Given the description of an element on the screen output the (x, y) to click on. 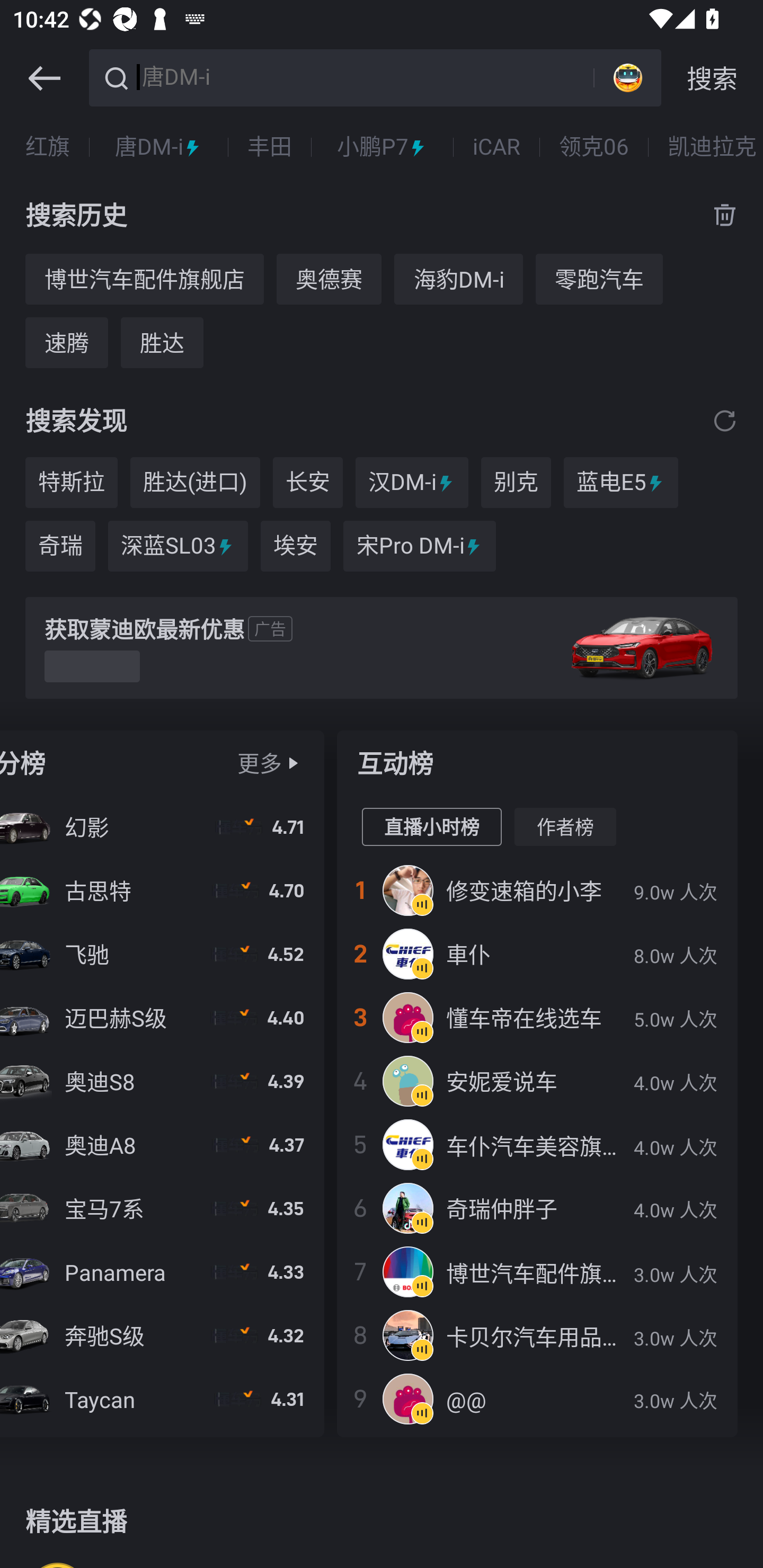
 唐DM-i (364, 76)
 (44, 78)
搜索 (711, 78)
红旗 (47, 147)
唐DM-i (158, 147)
丰田 (269, 147)
小鹏P7 (382, 147)
iCAR (496, 147)
领克06 (593, 147)
凯迪拉克 (711, 147)
博世汽车配件旗舰店 (144, 278)
奥德赛 (329, 278)
海豹DM-i (458, 278)
零跑汽车 (598, 278)
速腾 (66, 342)
胜达 (161, 342)
 (724, 419)
特斯拉 (71, 482)
胜达(进口) (195, 482)
长安 (307, 482)
汉DM-i (411, 482)
别克 (515, 482)
蓝电E5 (620, 482)
奇瑞 (60, 546)
深蓝SL03 (177, 546)
埃安 (295, 546)
宋Pro DM-i (419, 546)
获取蒙迪欧最新优惠 广告 立享优惠 (381, 648)
更多 (259, 762)
 (292, 763)
幻影 4.71 (161, 826)
直播小时榜 (431, 826)
作者榜 (565, 826)
古思特 4.70 (161, 890)
修变速箱的小李 9.0w 人次 (537, 890)
飞驰 4.52 (161, 953)
車仆 8.0w 人次 (537, 953)
迈巴赫S级 4.40 (161, 1017)
懂车帝在线选车 5.0w 人次 (537, 1017)
奥迪S8 4.39 (161, 1080)
安妮爱说车 4.0w 人次 (537, 1080)
奥迪A8 4.37 (161, 1144)
车仆汽车美容旗舰店 4.0w 人次 (537, 1144)
宝马7系 4.35 (161, 1208)
奇瑞仲胖子 4.0w 人次 (537, 1208)
Panamera 4.33 (161, 1271)
博世汽车配件旗舰店 3.0w 人次 (537, 1271)
奔驰S级 4.32 (161, 1335)
卡贝尔汽车用品旗舰店 3.0w 人次 (537, 1335)
Taycan 4.31 (161, 1398)
@@ 3.0w 人次 (537, 1398)
